Given the description of an element on the screen output the (x, y) to click on. 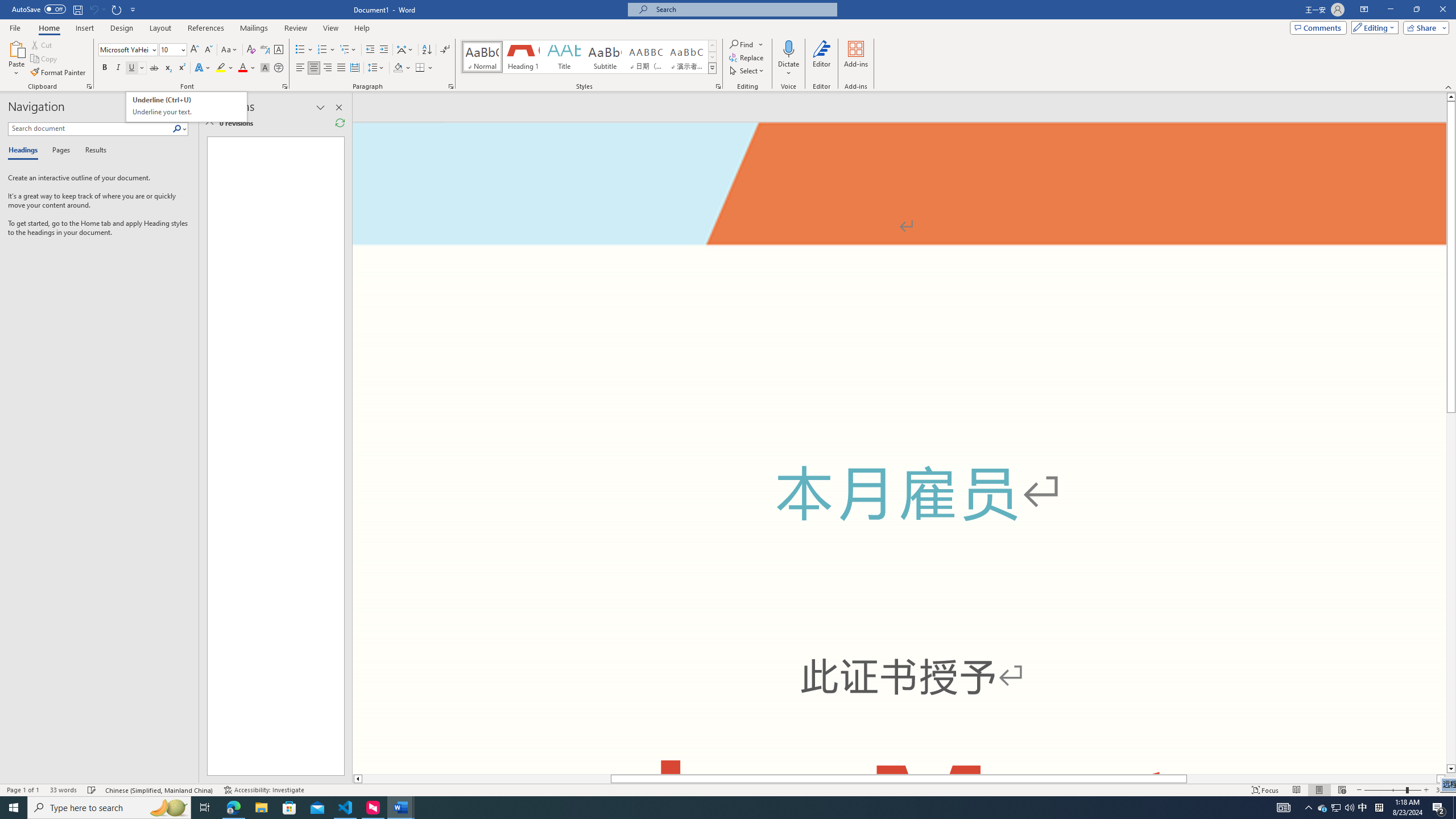
Page down (1450, 588)
Subtitle (605, 56)
